Given the description of an element on the screen output the (x, y) to click on. 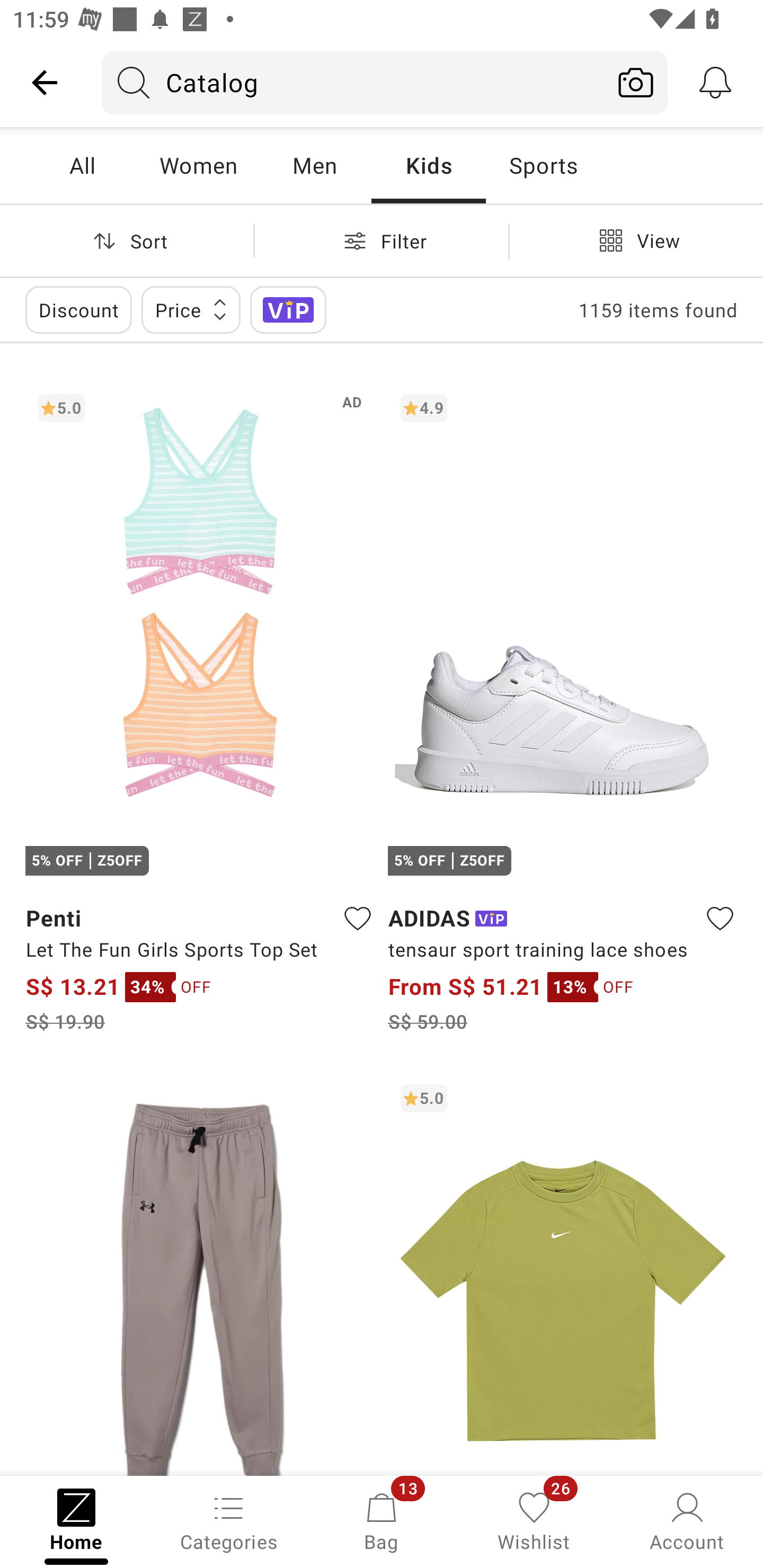
Navigate up (44, 82)
Catalog (352, 82)
All (82, 165)
Women (198, 165)
Men (314, 165)
Sports (543, 165)
Sort (126, 240)
Filter (381, 240)
View (636, 240)
Discount (78, 309)
Price (190, 309)
5.0 (562, 1272)
Categories (228, 1519)
Bag, 13 new notifications Bag (381, 1519)
Wishlist, 26 new notifications Wishlist (533, 1519)
Account (686, 1519)
